Given the description of an element on the screen output the (x, y) to click on. 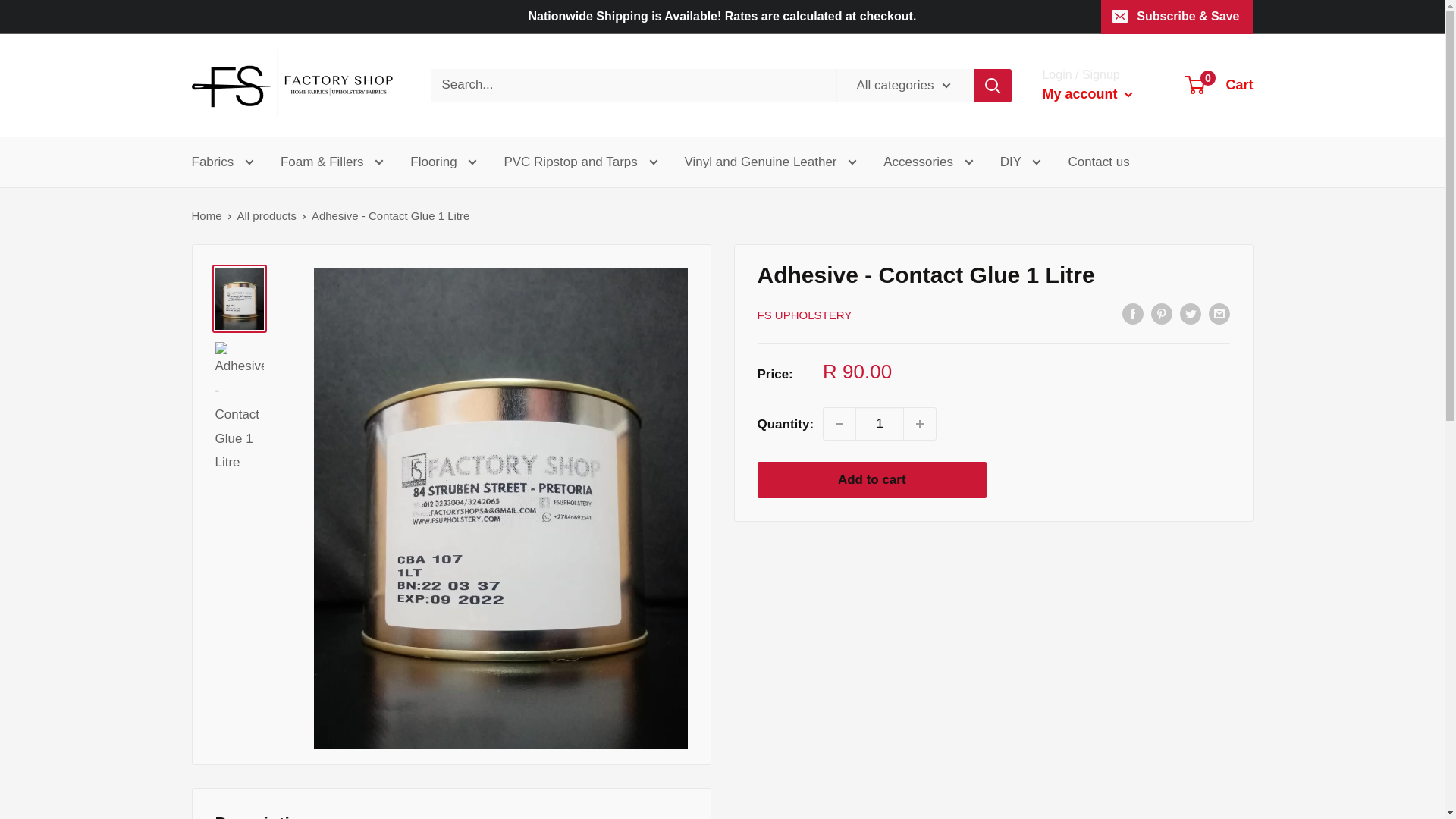
Increase quantity by 1 (920, 423)
Decrease quantity by 1 (840, 423)
1 (880, 423)
